Given the description of an element on the screen output the (x, y) to click on. 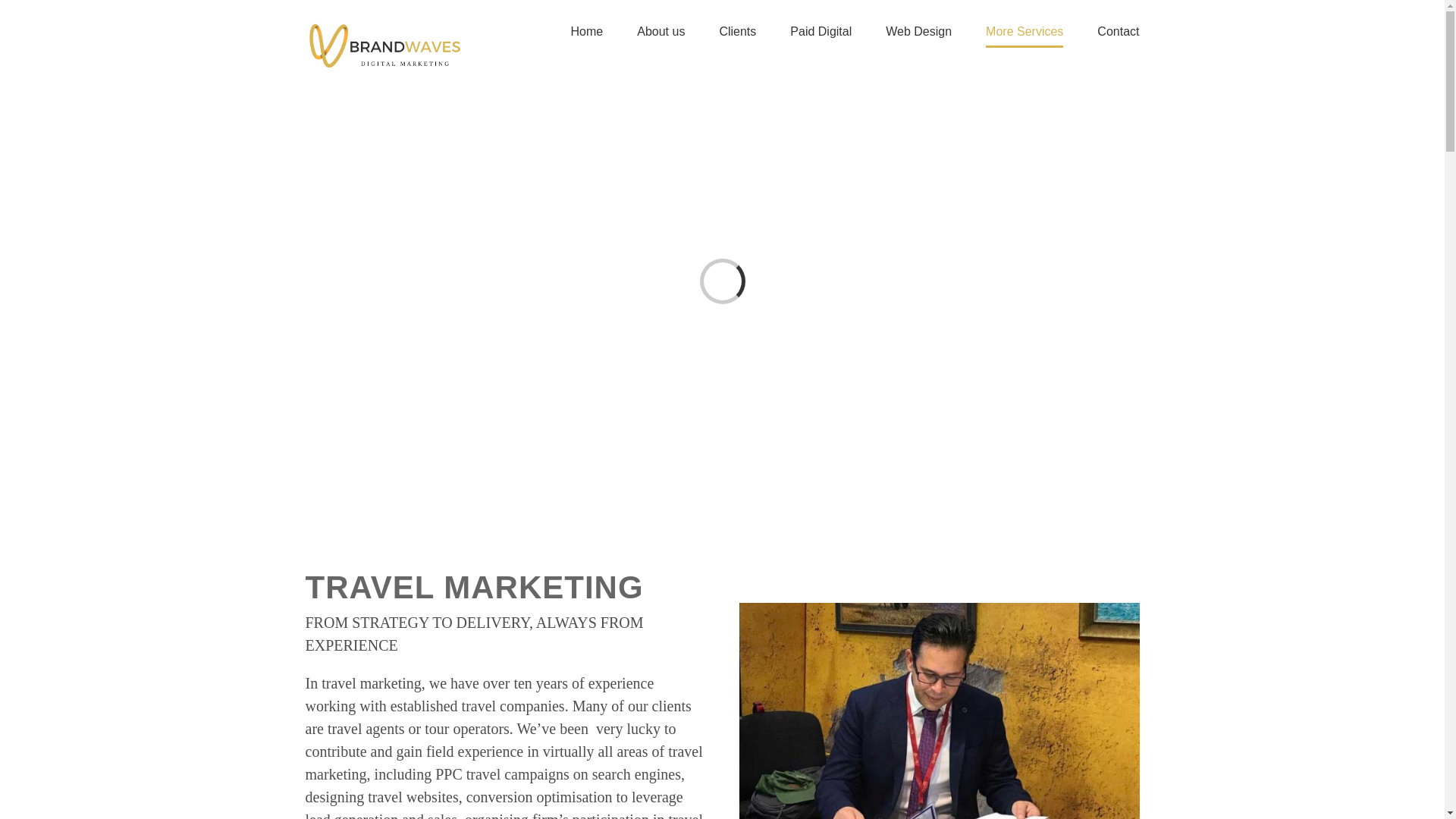
Online Paid Advertising (820, 31)
Web Design (918, 31)
More Services (1023, 31)
Our travel marketing specialist at WTM (938, 710)
Paid Digital (820, 31)
